Given the description of an element on the screen output the (x, y) to click on. 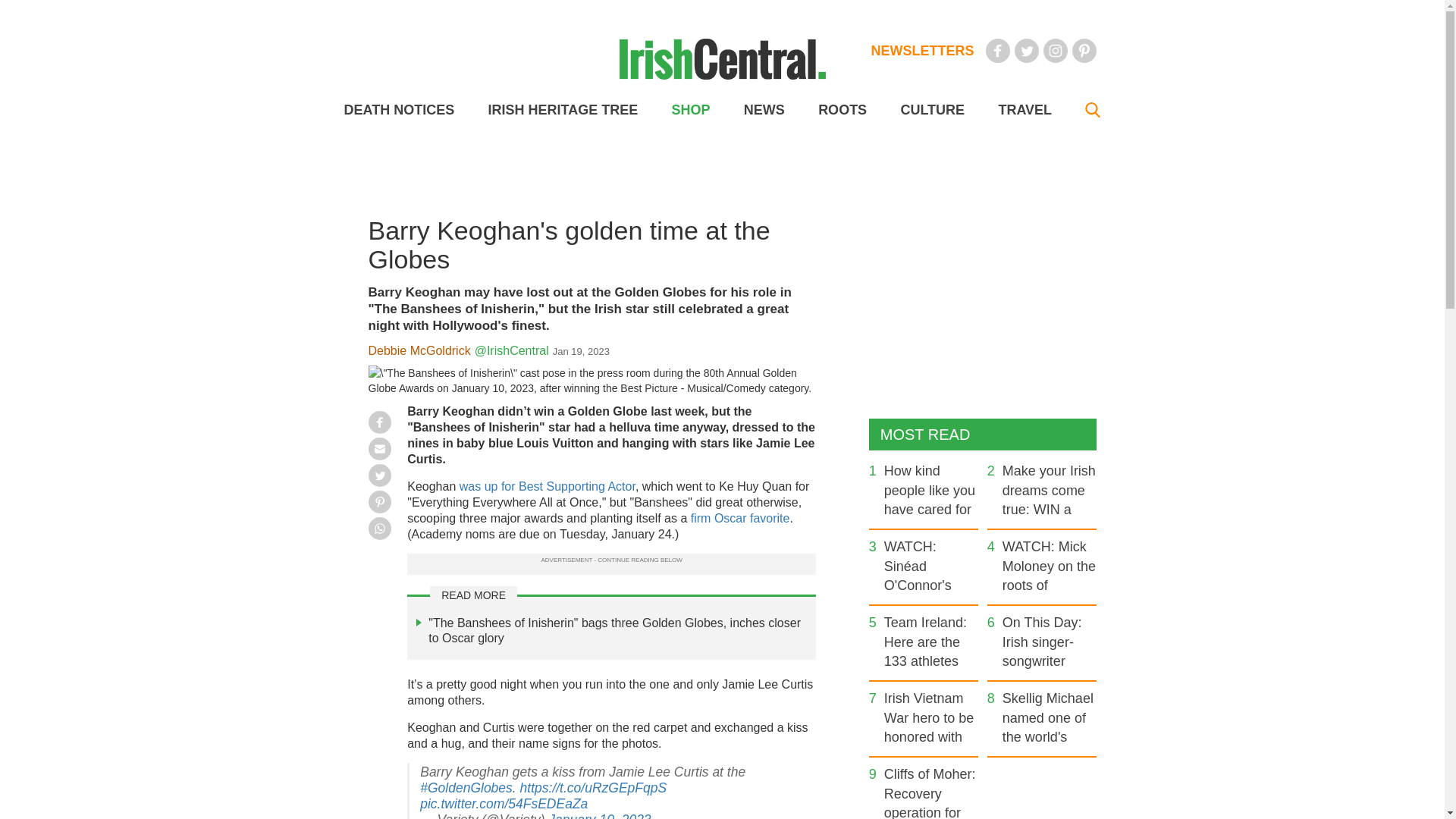
NEWSLETTERS (922, 50)
DEATH NOTICES (398, 109)
SHOP (690, 109)
NEWS (764, 109)
TRAVEL (1024, 109)
CULTURE (931, 109)
IRISH HERITAGE TREE (562, 109)
ROOTS (842, 109)
